Given the description of an element on the screen output the (x, y) to click on. 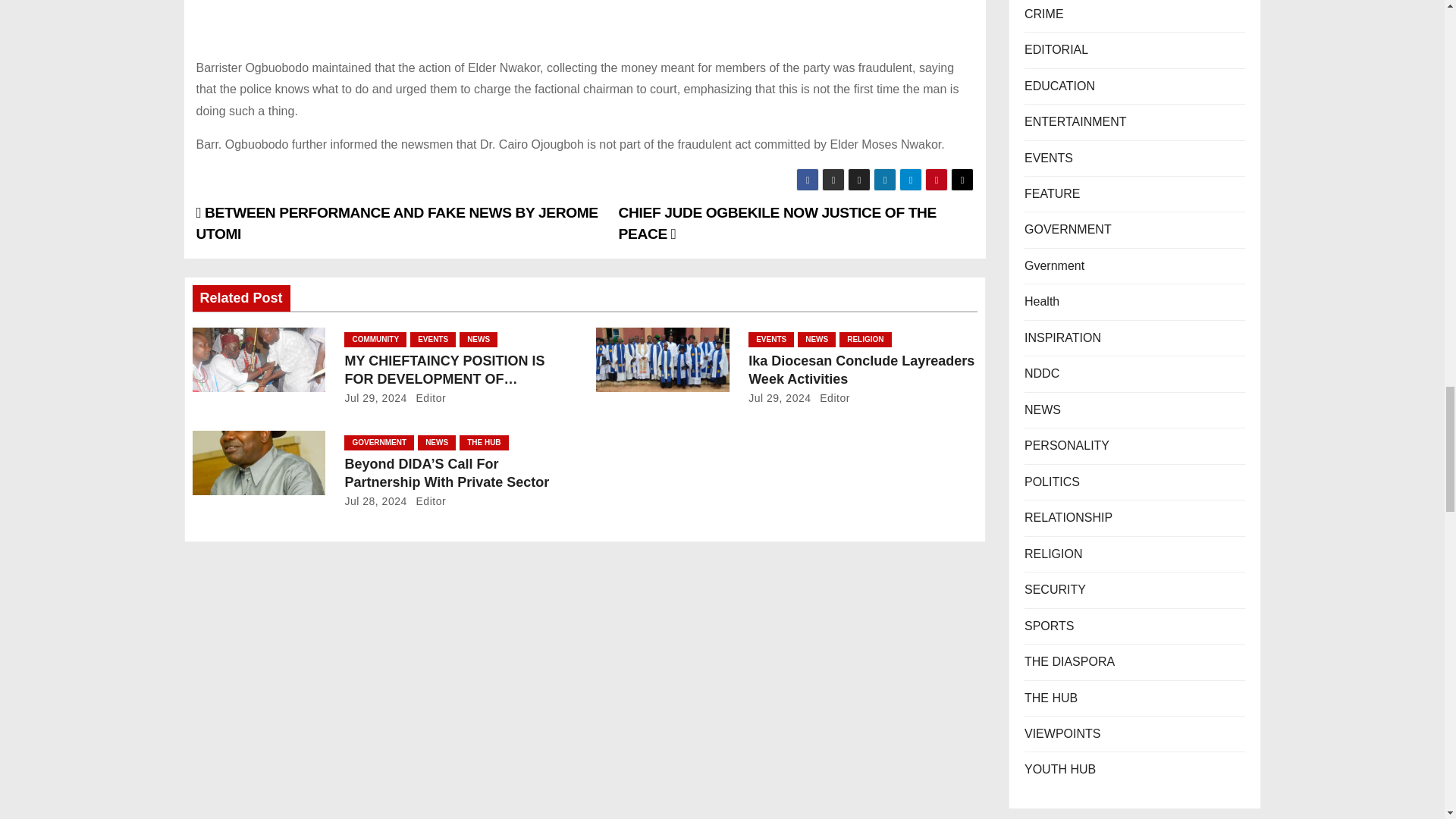
COMMUNITY (374, 339)
CHIEF JUDE OGBEKILE NOW JUSTICE OF THE PEACE (777, 222)
BETWEEN PERFORMANCE AND FAKE NEWS BY JEROME UTOMI (395, 222)
